Given the description of an element on the screen output the (x, y) to click on. 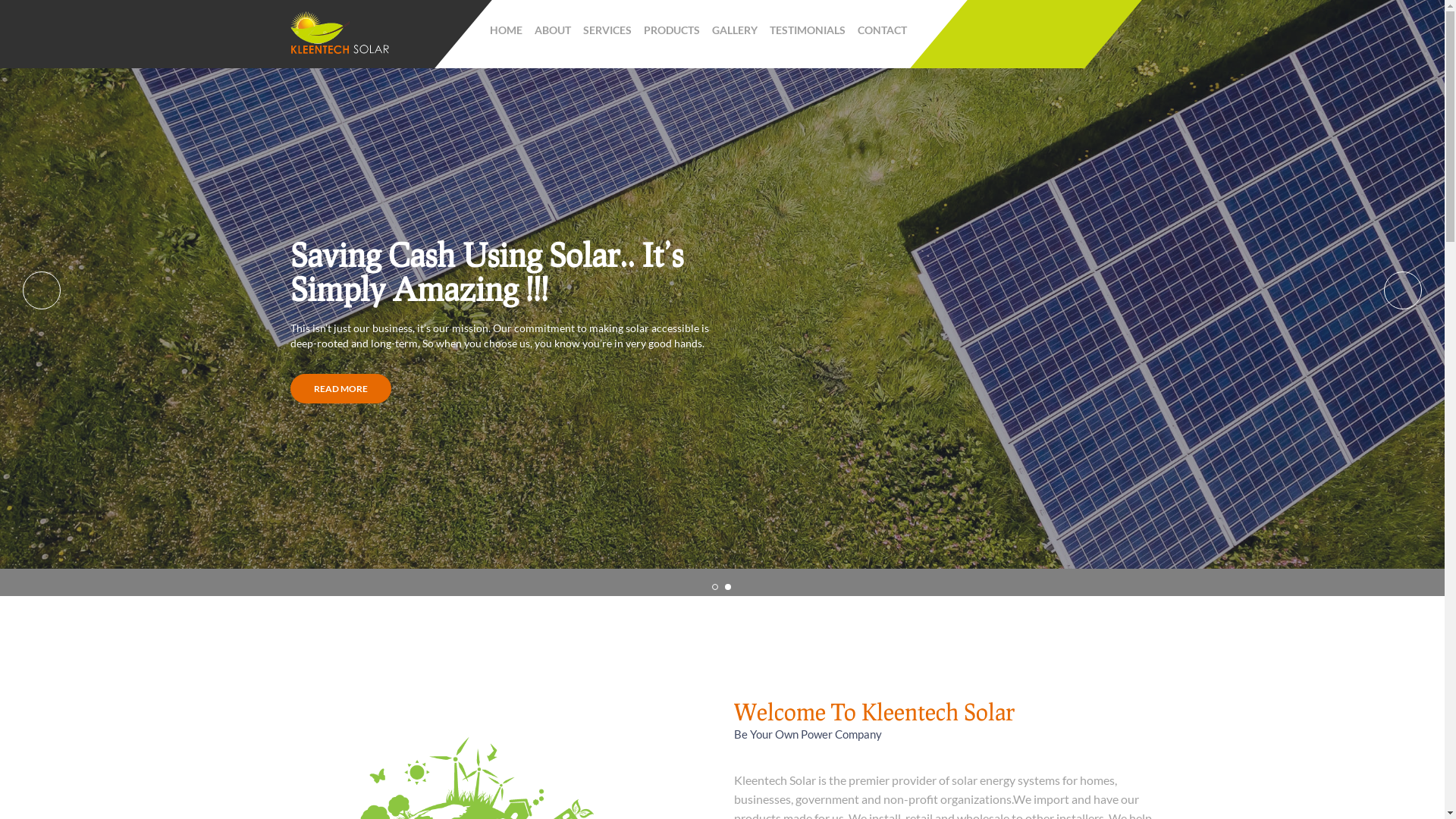
TESTIMONIALS Element type: text (806, 30)
ABOUT Element type: text (551, 30)
HOME Element type: text (505, 30)
CONTACT Element type: text (881, 30)
SERVICES Element type: text (606, 30)
PRODUCTS Element type: text (671, 30)
GALLERY Element type: text (733, 30)
READ MORE Element type: text (339, 388)
